Given the description of an element on the screen output the (x, y) to click on. 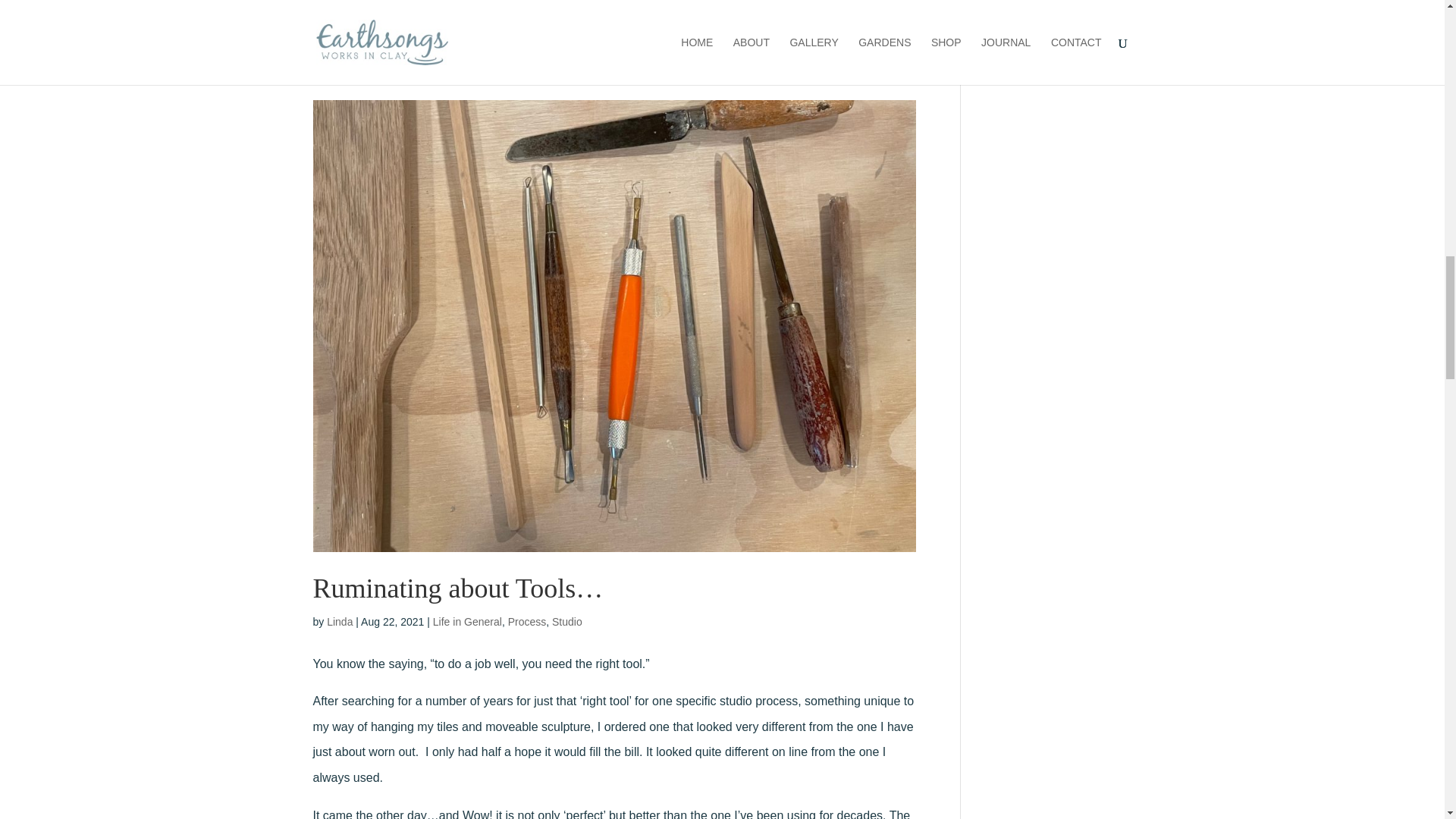
Linda (339, 621)
Life in General (467, 621)
Studio (566, 621)
Process (527, 621)
Posts by Linda (339, 621)
